Given the description of an element on the screen output the (x, y) to click on. 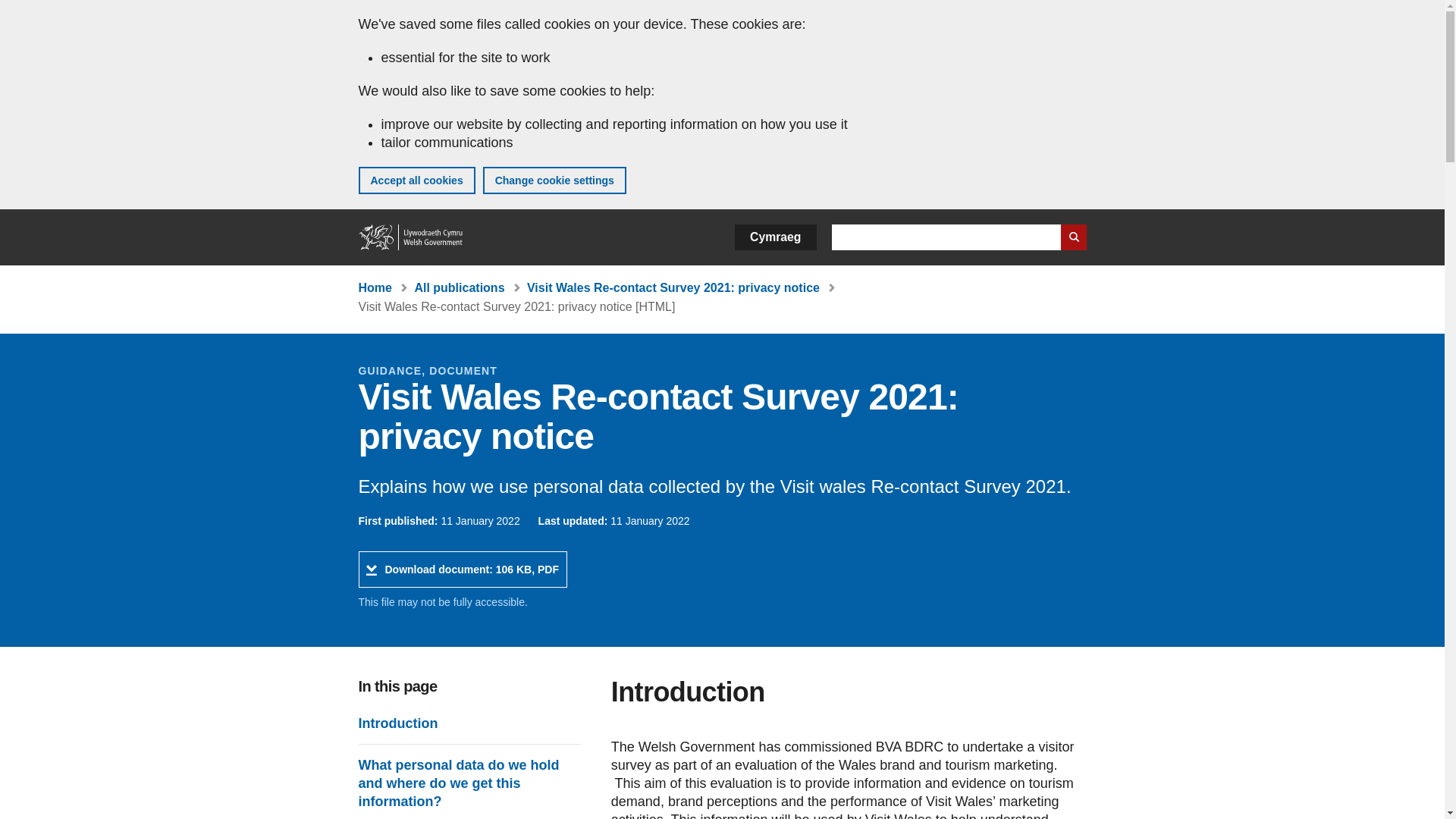
Search website (1072, 237)
Welsh Government (411, 237)
Home (462, 569)
All publications (374, 287)
Introduction (458, 287)
Search website (398, 723)
Visit Wales Re-contact Survey 2021: privacy notice (1072, 237)
Accept all cookies (673, 287)
